Given the description of an element on the screen output the (x, y) to click on. 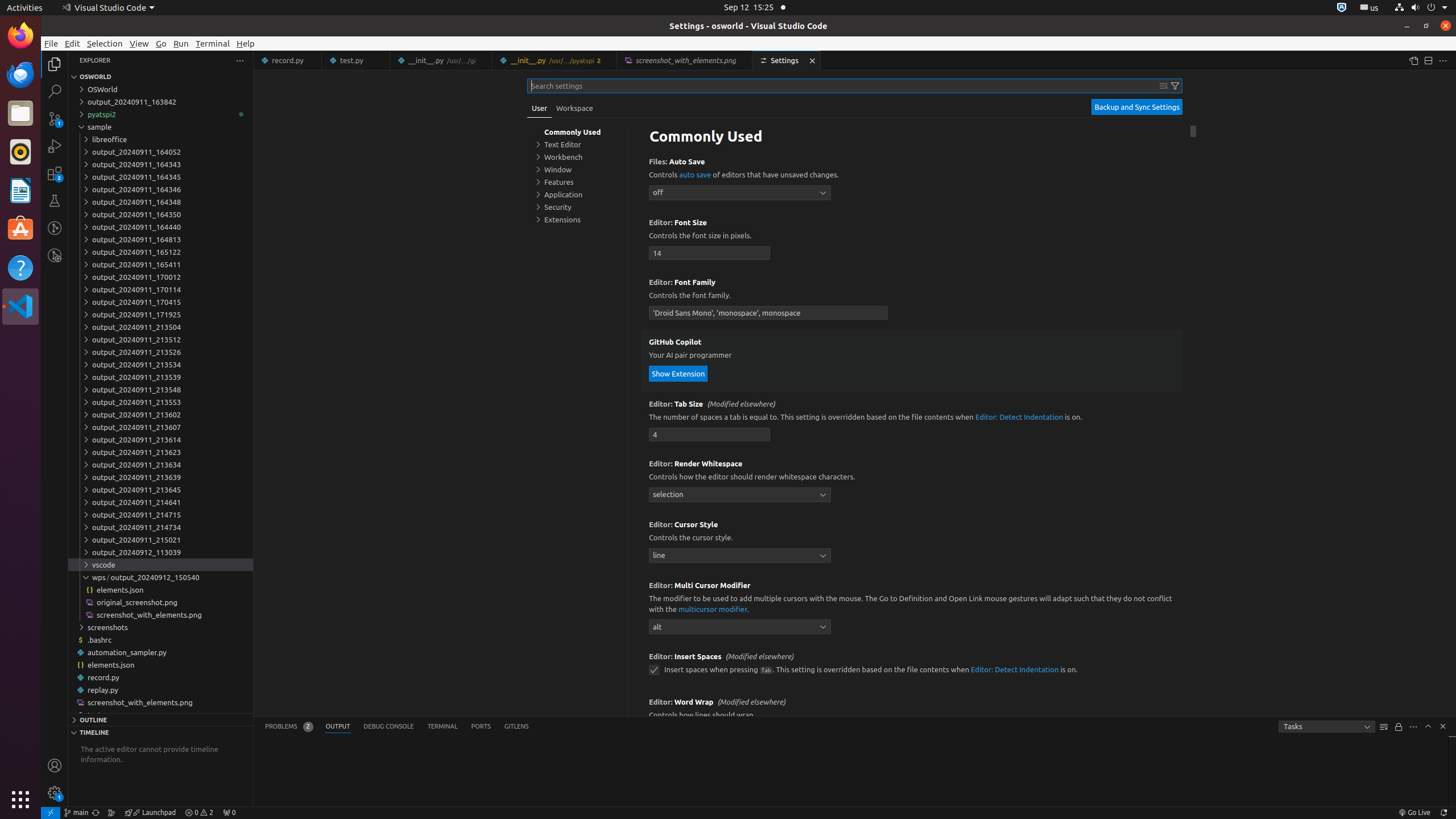
Maximize Panel Size Element type: check-box (1427, 726)
output_20240911_164052 Element type: tree-item (160, 151)
__init__.py Element type: page-tab (554, 60)
output_20240911_214715 Element type: tree-item (160, 514)
output_20240911_170114 Element type: tree-item (160, 289)
